Given the description of an element on the screen output the (x, y) to click on. 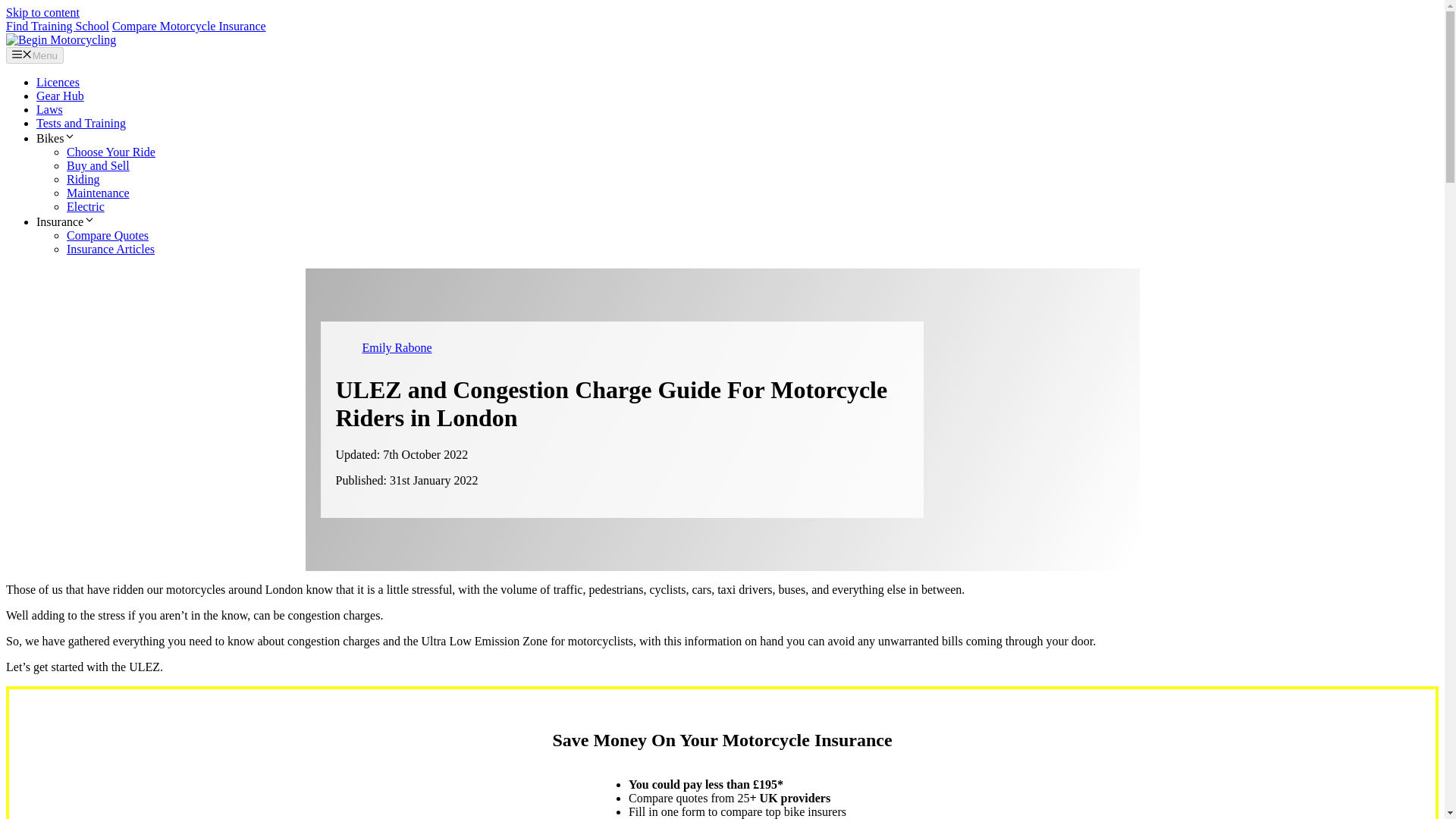
Licences (58, 82)
Find Training School (57, 25)
Choose Your Ride (110, 151)
Menu (34, 54)
Riding (83, 178)
Buy and Sell (97, 164)
Insurance Articles (110, 248)
Electric (85, 205)
Laws (49, 109)
Skip to content (42, 11)
